Given the description of an element on the screen output the (x, y) to click on. 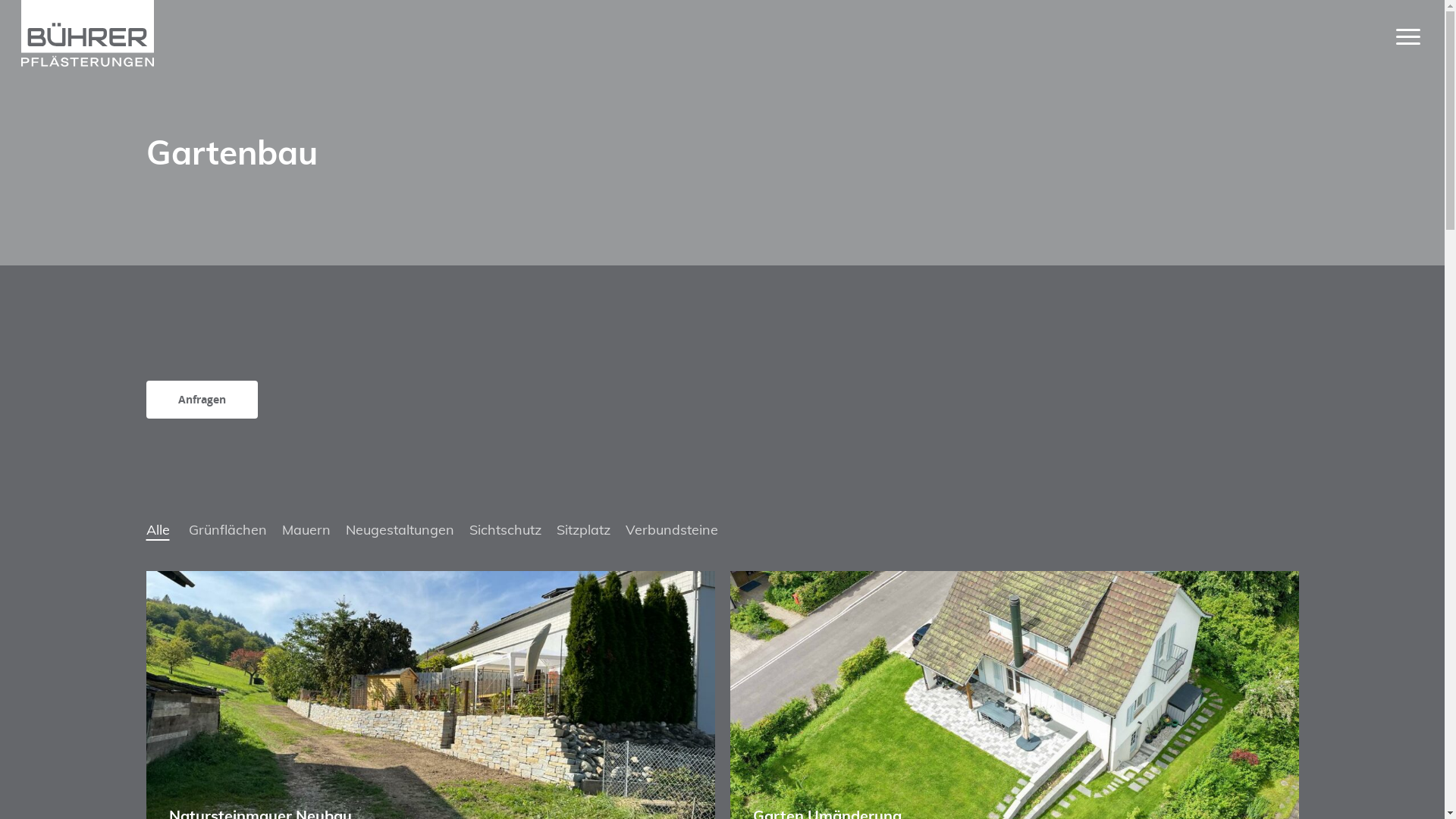
Neugestaltungen Element type: text (399, 529)
Sichtschutz Element type: text (504, 529)
Verbundsteine Element type: text (670, 529)
Alle Element type: text (157, 529)
Mauern Element type: text (306, 529)
Sitzplatz Element type: text (583, 529)
Anfragen Element type: text (201, 399)
